Given the description of an element on the screen output the (x, y) to click on. 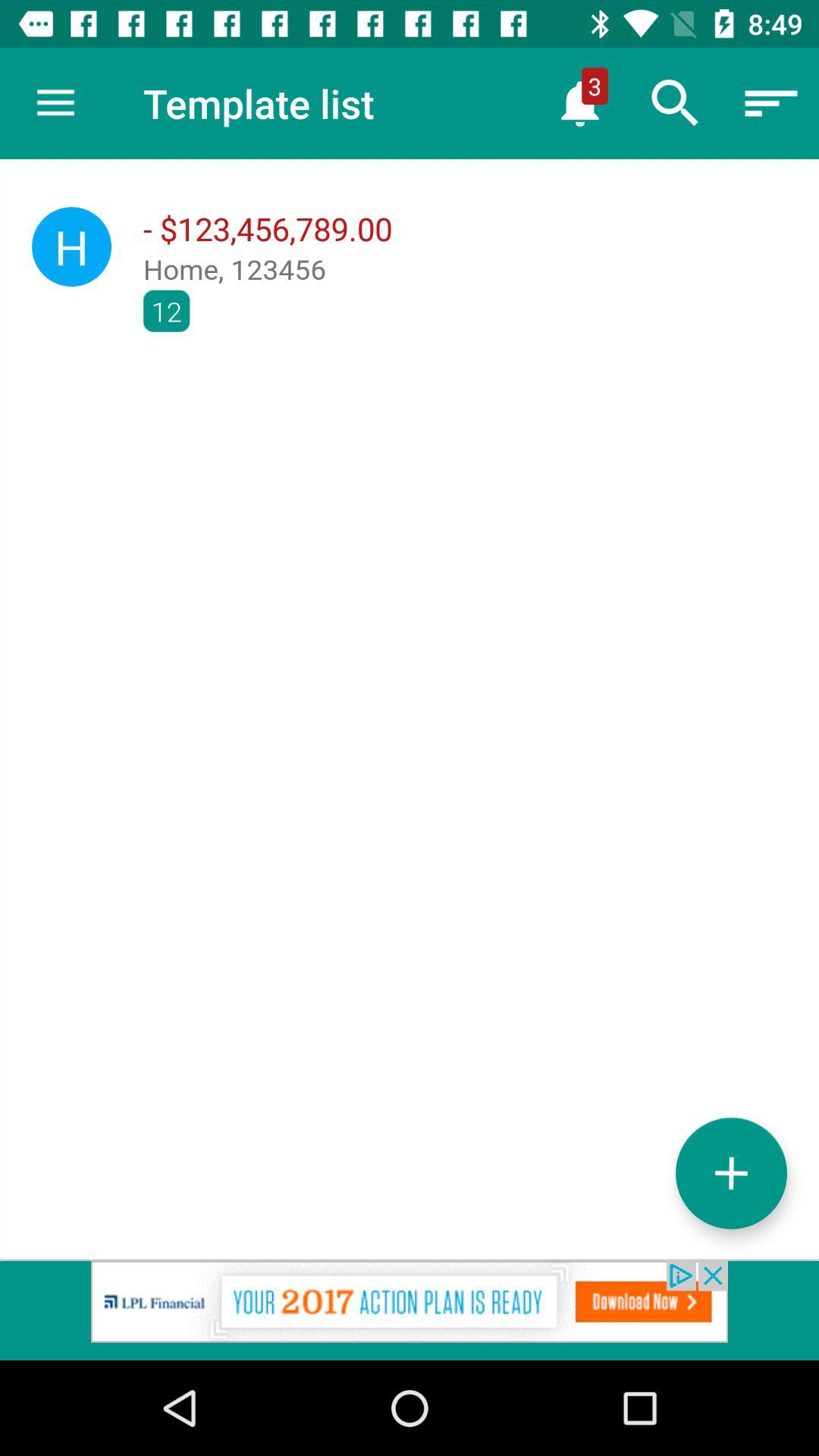
share the article (409, 1310)
